Given the description of an element on the screen output the (x, y) to click on. 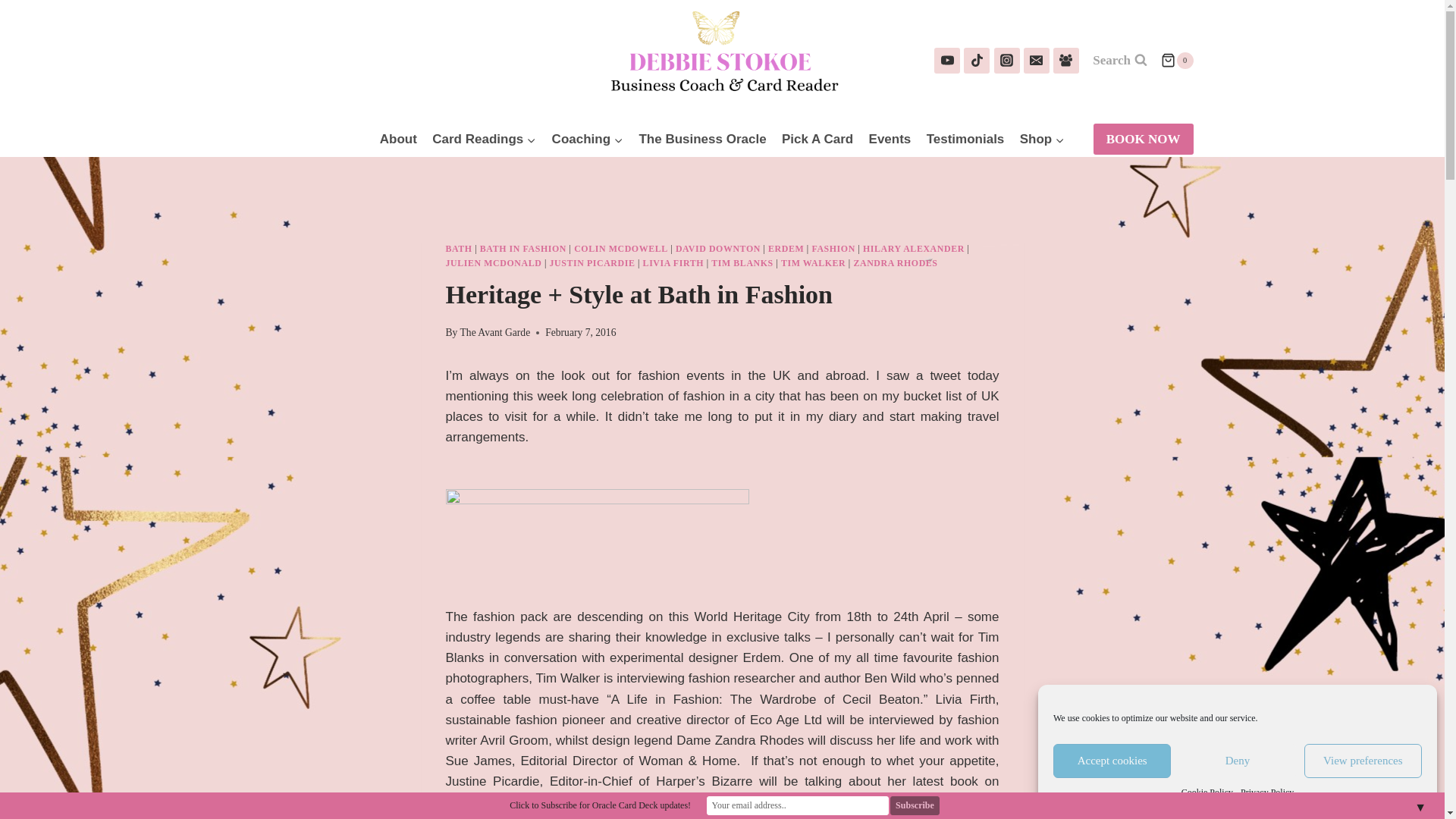
Privacy Policy (1267, 792)
BOOK NOW (1143, 138)
Events (889, 139)
About (398, 139)
View preferences (1363, 760)
Cookie Policy (1206, 792)
The Business Oracle (702, 139)
Pick A Card (817, 139)
Search (1120, 60)
Testimonials (964, 139)
Card Readings (484, 139)
Coaching (586, 139)
0 (1176, 60)
Shop (1042, 139)
Deny (1236, 760)
